Given the description of an element on the screen output the (x, y) to click on. 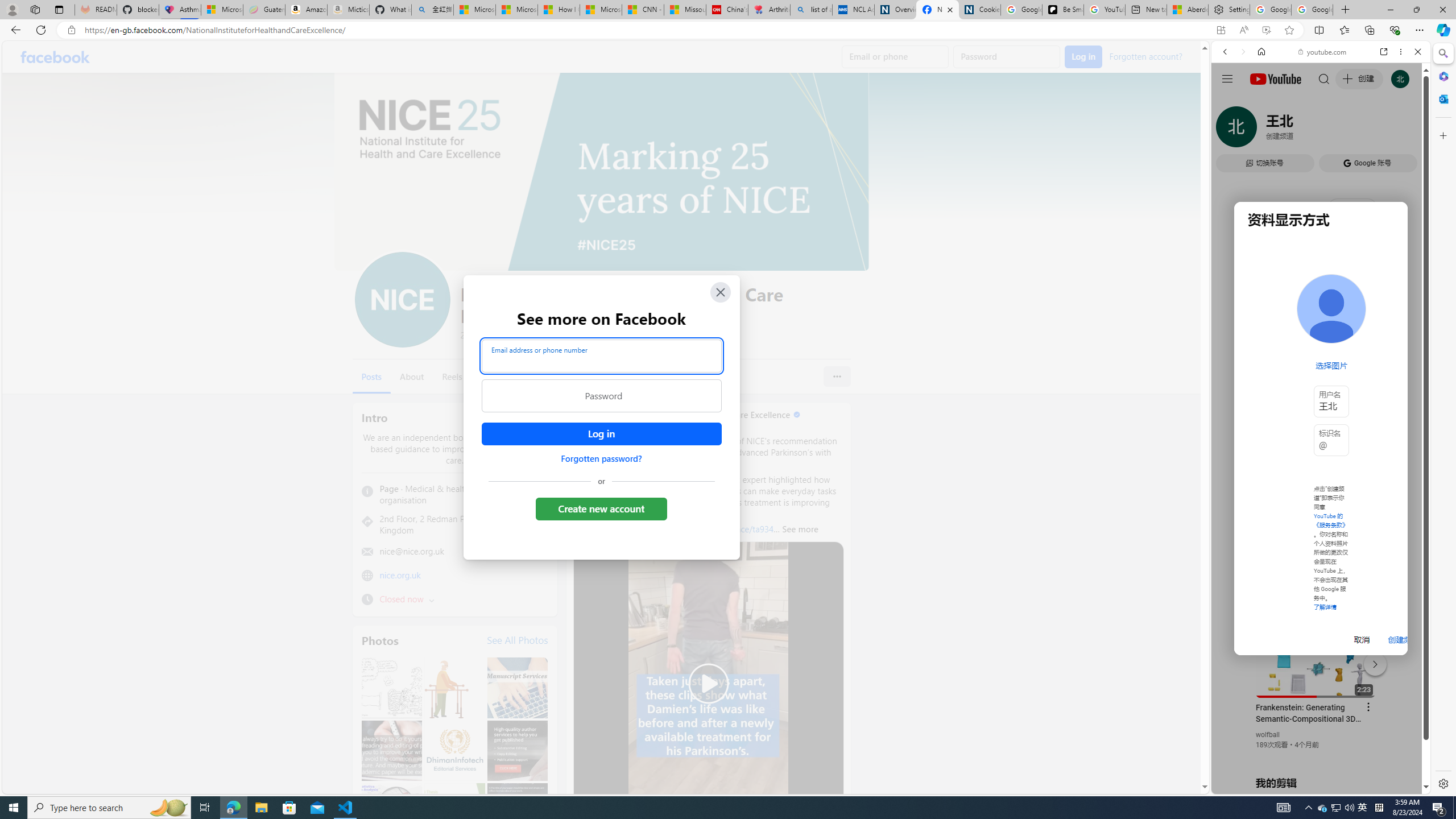
Asthma Inhalers: Names and Types (179, 9)
Forgotten password? (601, 458)
Actions for this site (1371, 661)
Aberdeen, Hong Kong SAR hourly forecast | Microsoft Weather (1186, 9)
Music (1320, 309)
YouTube (1315, 655)
Google (1320, 281)
Enhance video (1266, 29)
Cookies (979, 9)
